Given the description of an element on the screen output the (x, y) to click on. 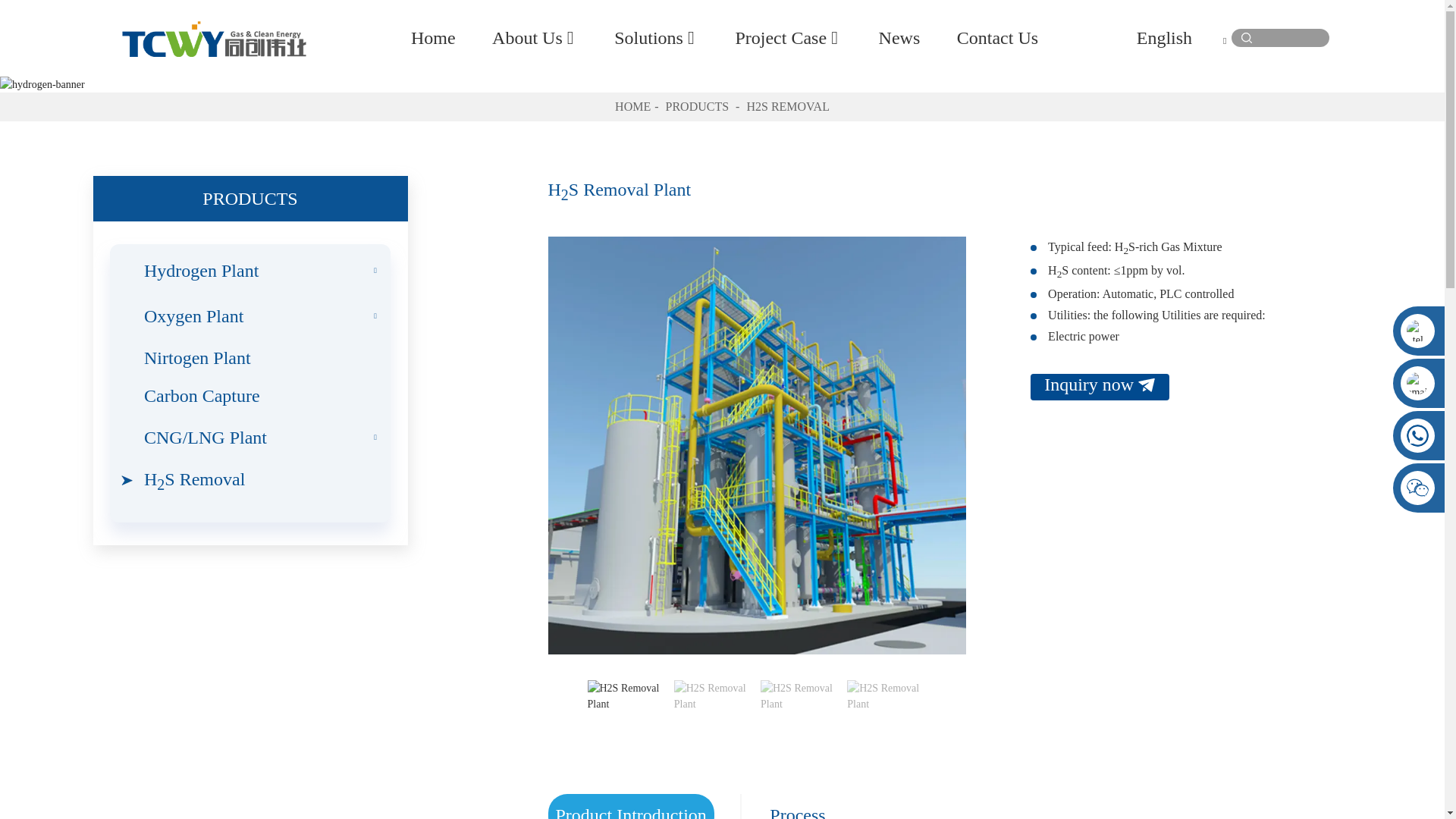
News (899, 38)
Home (432, 38)
Project Case (788, 38)
About Us (535, 38)
English (1182, 37)
Contact Us (997, 38)
Solutions (656, 38)
